Given the description of an element on the screen output the (x, y) to click on. 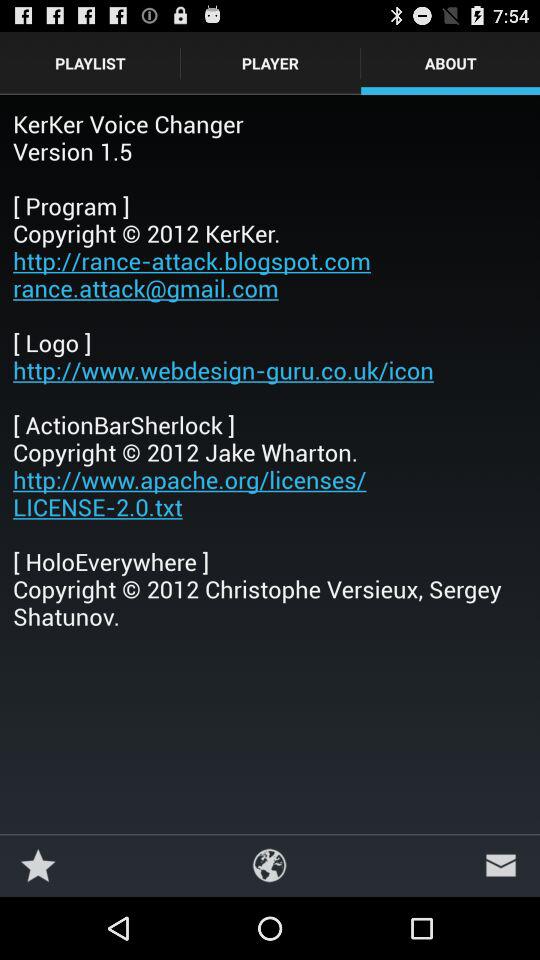
select kerker voice changer icon (270, 369)
